Given the description of an element on the screen output the (x, y) to click on. 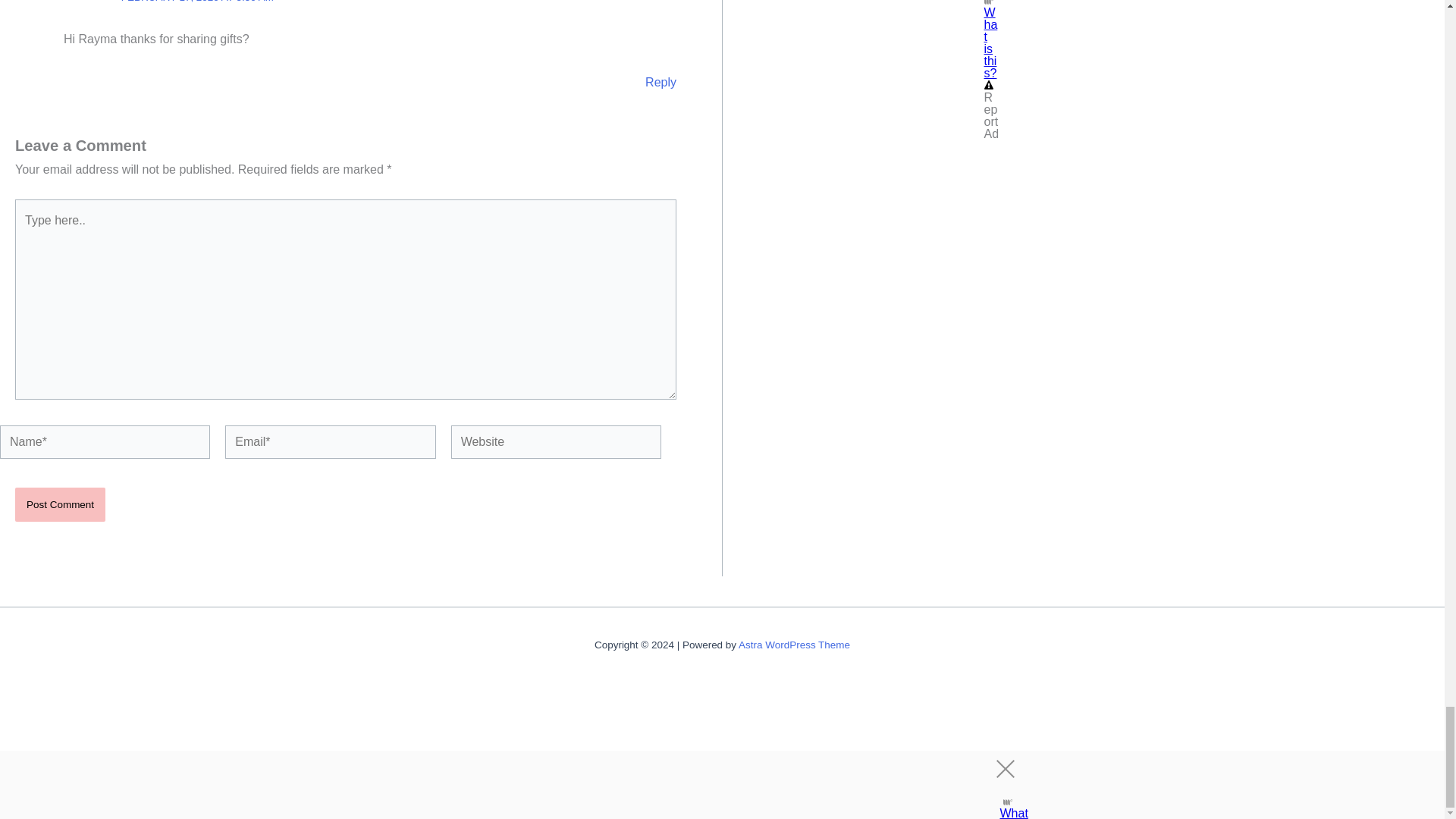
Post Comment (59, 504)
